Given the description of an element on the screen output the (x, y) to click on. 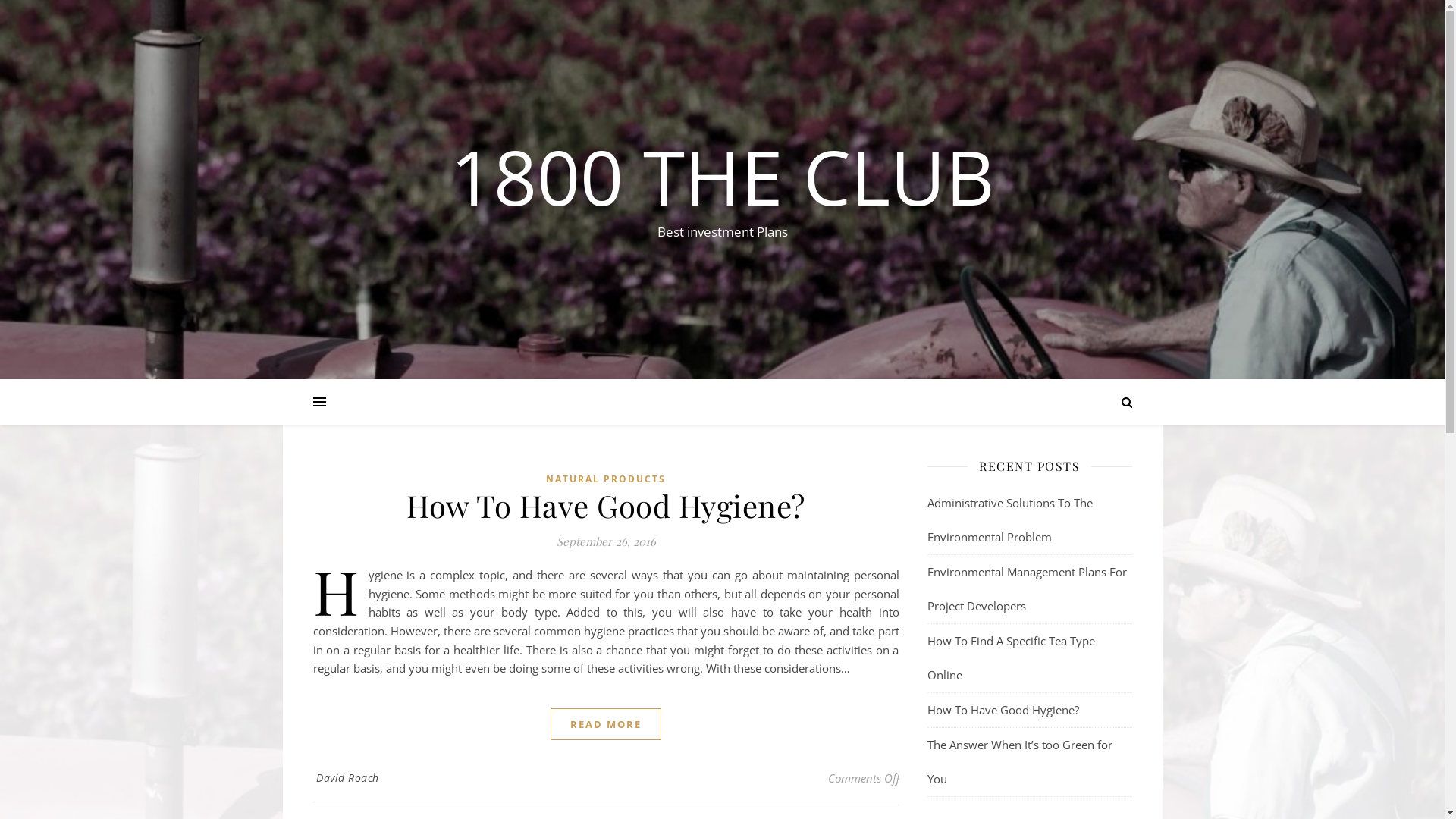
How To Find A Specific Tea Type Online Element type: text (1010, 657)
Environmental Management Plans For Project Developers Element type: text (1026, 588)
David Roach Element type: text (347, 777)
1800 THE CLUB Element type: text (722, 175)
NATURAL PRODUCTS Element type: text (605, 478)
Administrative Solutions To The Environmental Problem Element type: text (1009, 519)
How To Have Good Hygiene? Element type: text (1002, 709)
READ MORE Element type: text (605, 724)
How To Have Good Hygiene? Element type: text (605, 505)
